Given the description of an element on the screen output the (x, y) to click on. 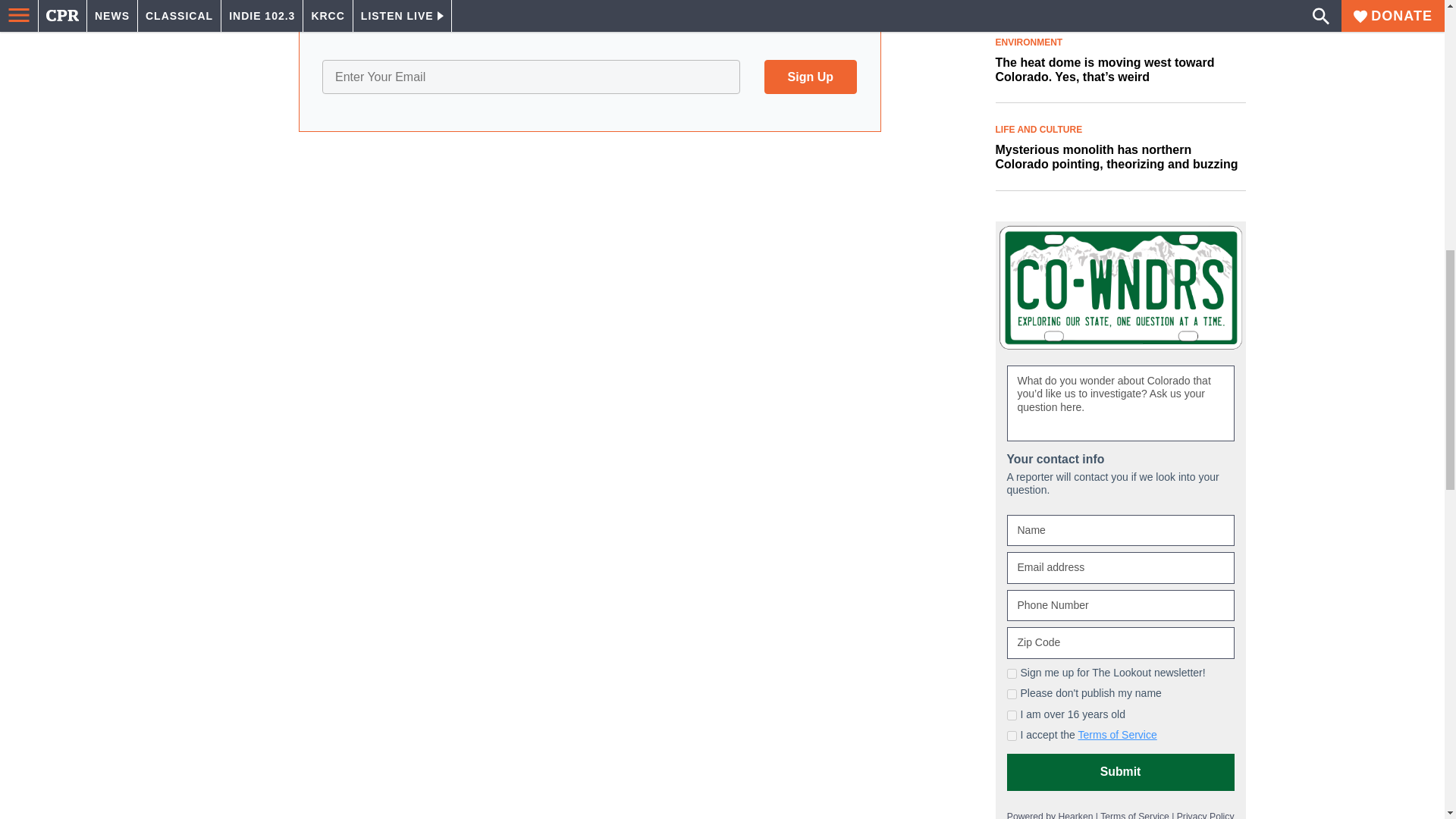
on (1011, 673)
on (1011, 715)
on (1011, 694)
on (1011, 736)
newsArticleSignup (589, 76)
